Given the description of an element on the screen output the (x, y) to click on. 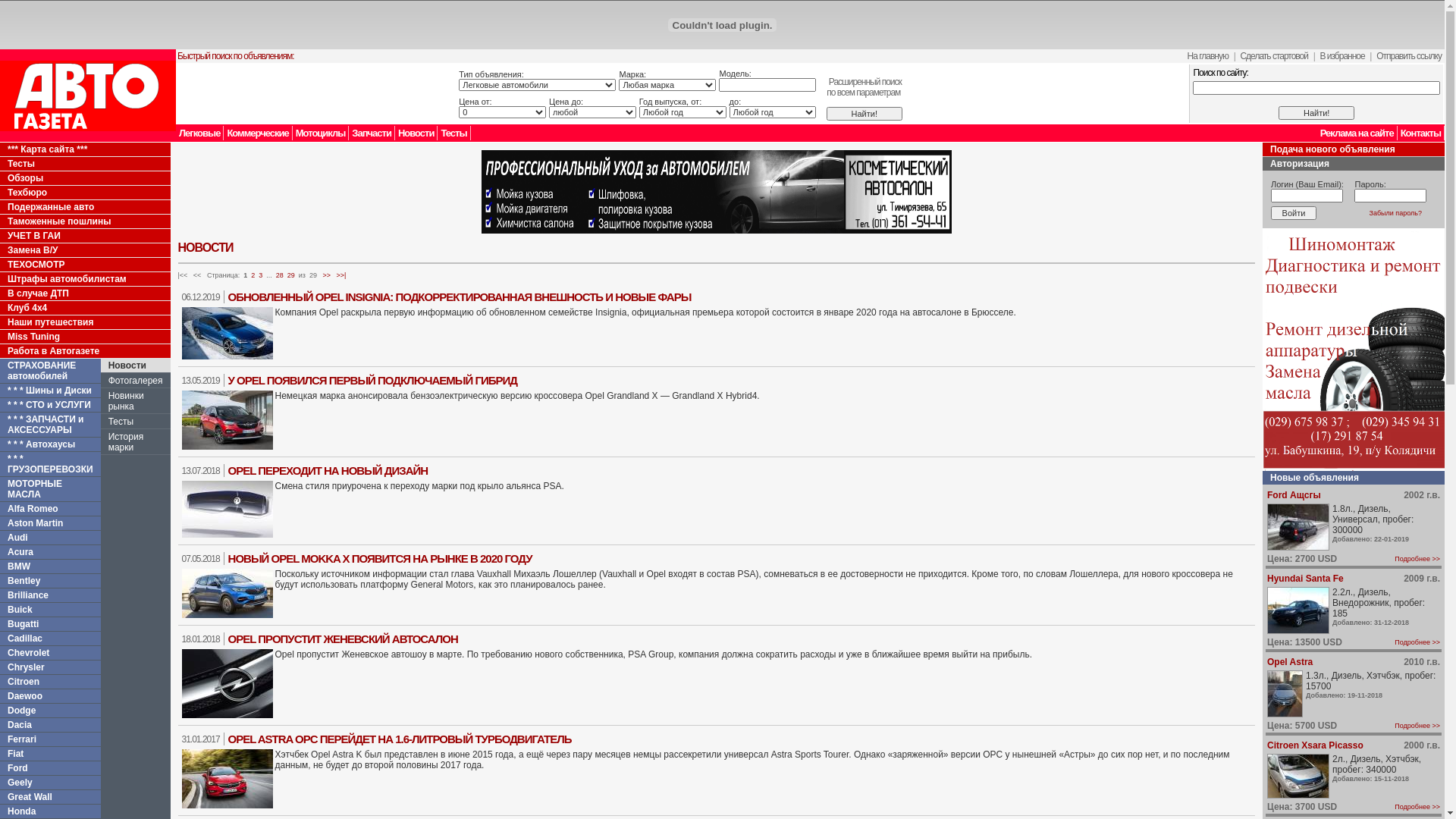
Citroen Element type: text (23, 681)
Alfa Romeo Element type: text (50, 508)
Daewoo Element type: text (24, 695)
Miss Tuning Element type: text (85, 336)
Dodge Element type: text (21, 710)
Opel Astra Element type: text (1289, 661)
Cadillac Element type: text (50, 638)
Citroen Xsara Picasso Element type: text (1315, 745)
Dacia Element type: text (50, 724)
Ferrari Element type: text (50, 739)
Aston Martin Element type: text (34, 522)
Cadillac Element type: text (24, 638)
Chrysler Element type: text (50, 667)
Dodge Element type: text (50, 710)
Brilliance Element type: text (27, 594)
Geely Element type: text (19, 782)
BMW Element type: text (18, 566)
Bugatti Element type: text (22, 623)
Chevrolet Element type: text (50, 652)
Alfa Romeo Element type: text (32, 508)
Citroen Element type: text (50, 681)
Buick Element type: text (50, 609)
Hyundai Santa Fe Element type: text (1305, 578)
Aston Martin Element type: text (50, 523)
3 Element type: text (260, 275)
29 Element type: text (290, 275)
Bugatti Element type: text (50, 623)
Acura Element type: text (20, 551)
2 Element type: text (252, 275)
Buick Element type: text (19, 609)
Great Wall Element type: text (29, 796)
Fiat Element type: text (50, 753)
Miss Tuning Element type: text (33, 336)
>>| Element type: text (341, 275)
Bentley Element type: text (23, 580)
Fiat Element type: text (15, 753)
Geely Element type: text (50, 782)
Ford Element type: text (50, 768)
>> Element type: text (326, 275)
Daewoo Element type: text (50, 695)
Chrysler Element type: text (25, 667)
Audi Element type: text (50, 537)
Great Wall Element type: text (50, 796)
Acura Element type: text (50, 551)
Chevrolet Element type: text (28, 652)
Ferrari Element type: text (21, 739)
Bentley Element type: text (50, 580)
Ford Element type: text (17, 767)
Honda Element type: text (21, 811)
Honda Element type: text (50, 811)
Brilliance Element type: text (50, 595)
Dacia Element type: text (19, 724)
28 Element type: text (279, 275)
Audi Element type: text (17, 537)
BMW Element type: text (50, 566)
